Given the description of an element on the screen output the (x, y) to click on. 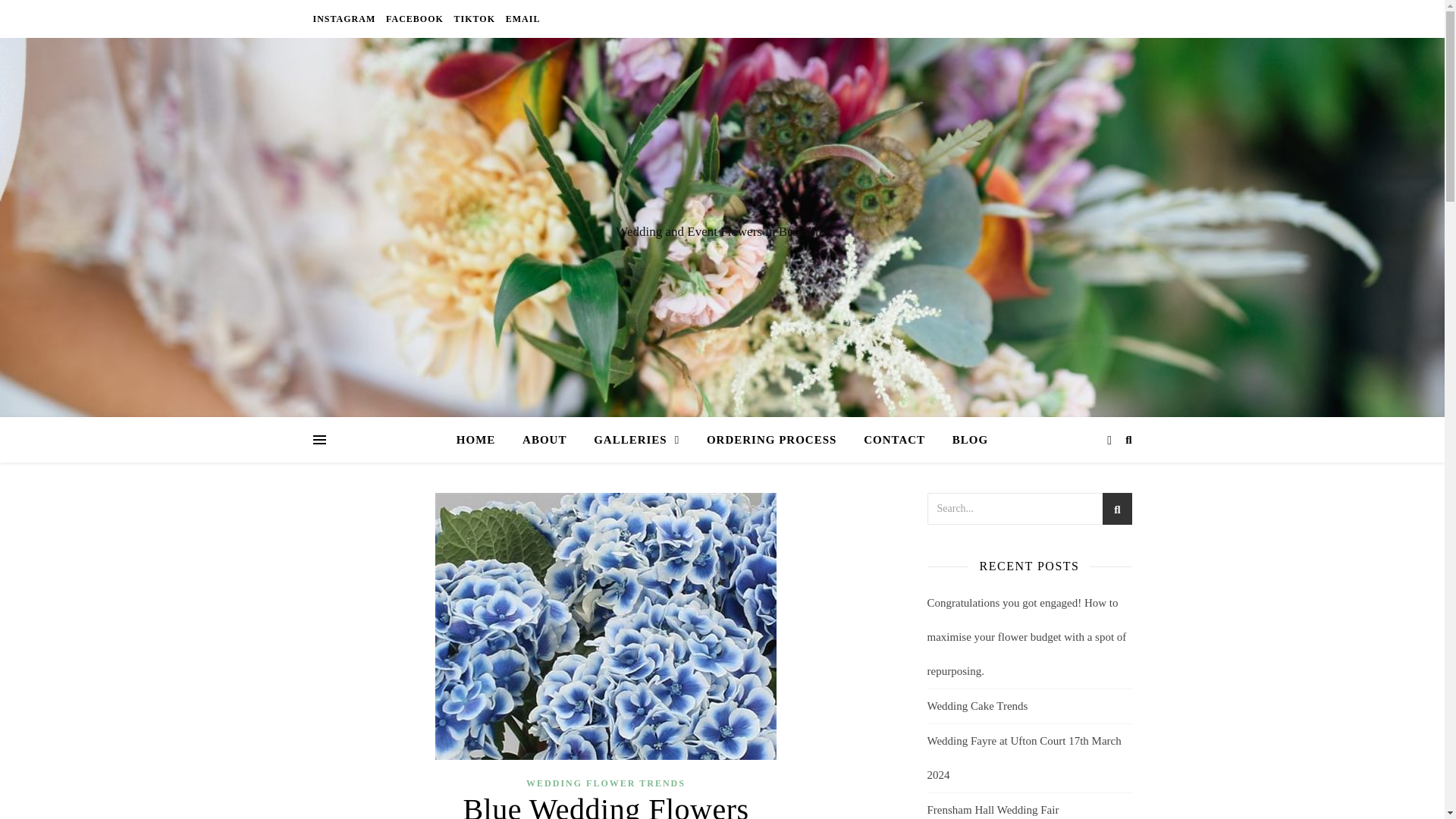
HOME (482, 439)
EMAIL (521, 18)
FACEBOOK (413, 18)
BLOG (964, 439)
GALLERIES (635, 439)
ORDERING PROCESS (771, 439)
TIKTOK (474, 18)
CONTACT (894, 439)
ABOUT (544, 439)
INSTAGRAM (345, 18)
